Given the description of an element on the screen output the (x, y) to click on. 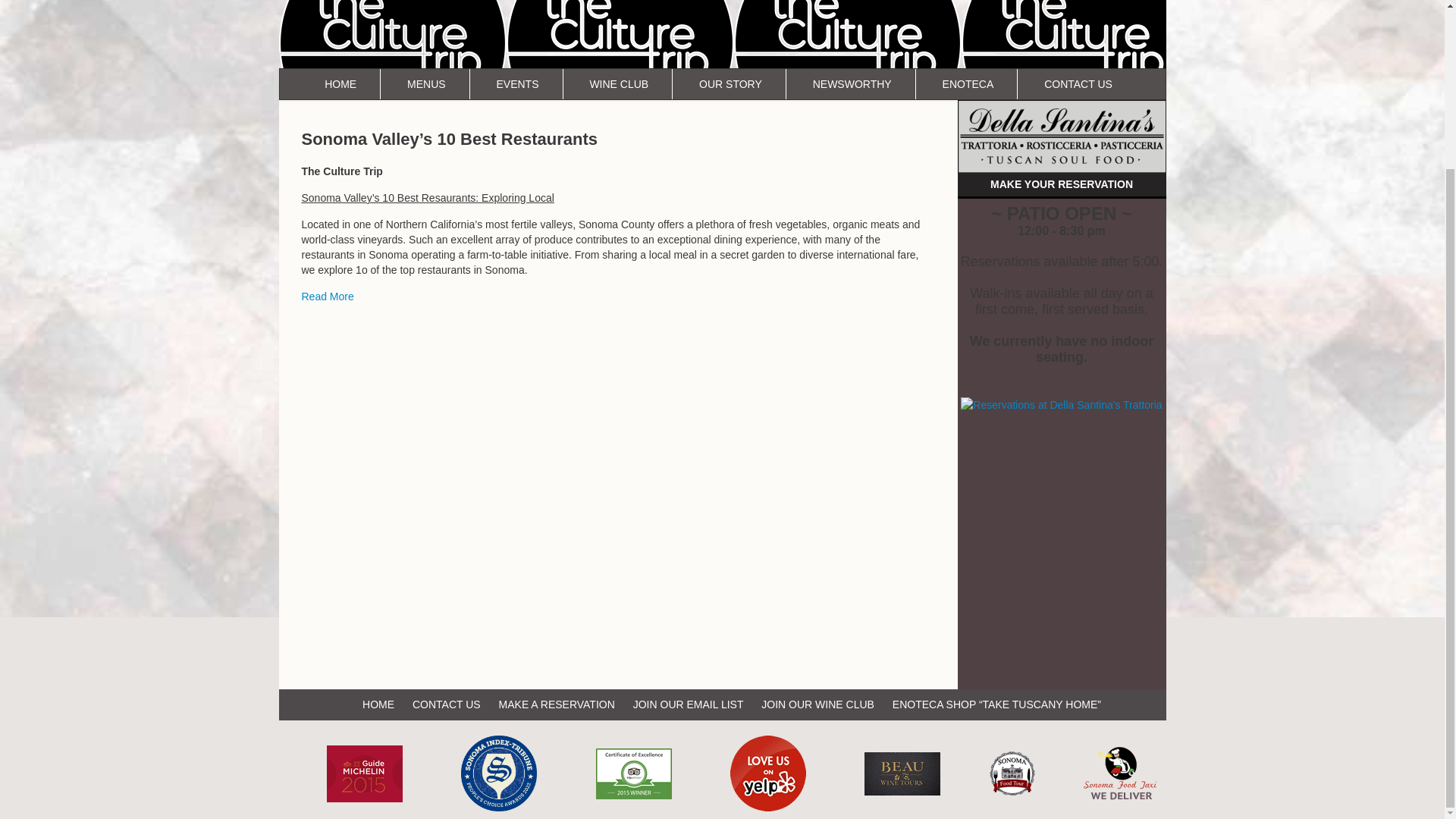
JOIN OUR WINE CLUB (818, 704)
HOME (340, 83)
NEWSWORTHY (852, 83)
WINE CLUB (618, 83)
EVENTS (516, 83)
Della Santina's Trattoria Reservations on Yelp (1060, 404)
OUR STORY (730, 83)
MENUS (426, 83)
ENOTECA (967, 83)
HOME (378, 704)
MAKE A RESERVATION (556, 704)
CONTACT US (1077, 83)
JOIN OUR EMAIL LIST (688, 704)
Read More (327, 296)
CONTACT US (446, 704)
